Given the description of an element on the screen output the (x, y) to click on. 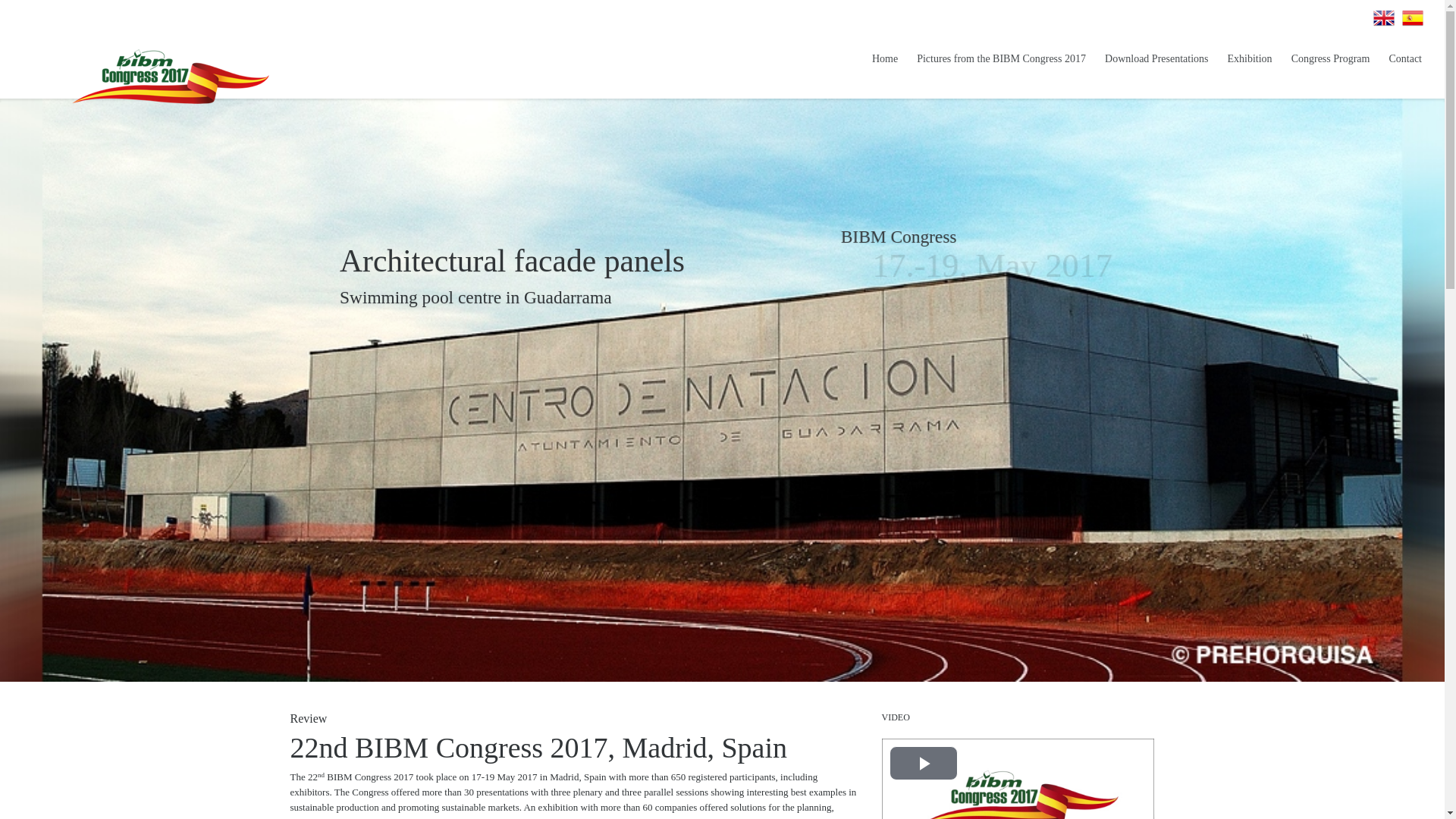
Play Video (922, 763)
English (1383, 17)
Congress Program (1330, 58)
Play Video (922, 763)
Exhibition (1249, 58)
Download Presentations (1156, 58)
Pictures from the BIBM Congress 2017 (1000, 58)
Spanish (1412, 17)
Home (884, 58)
Contact (1404, 58)
